Given the description of an element on the screen output the (x, y) to click on. 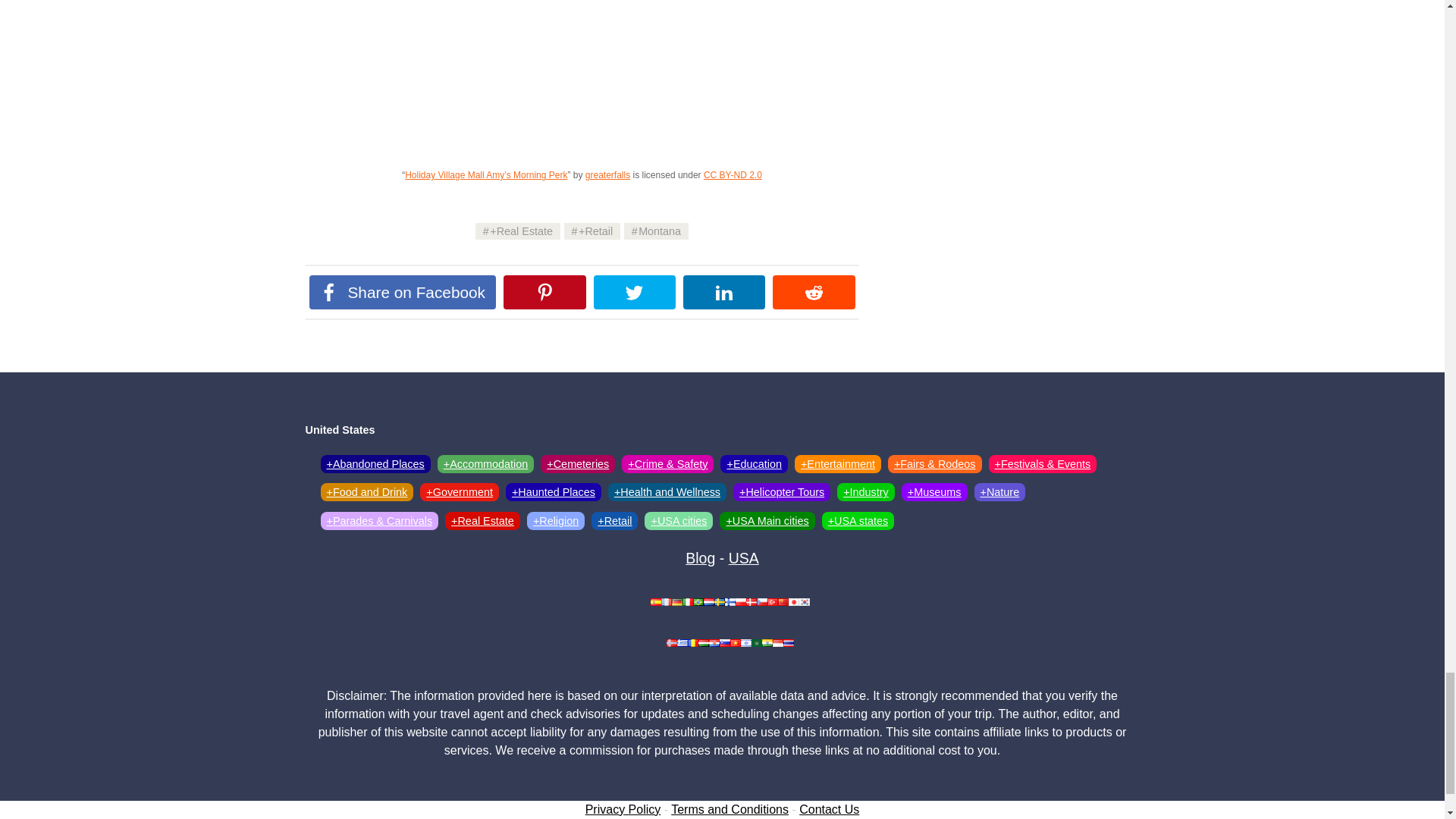
Post Comment (354, 747)
Post Comment (354, 747)
CC BY-ND 2.0 (732, 174)
Montana (656, 230)
yes (309, 714)
greaterfalls (607, 174)
